Given the description of an element on the screen output the (x, y) to click on. 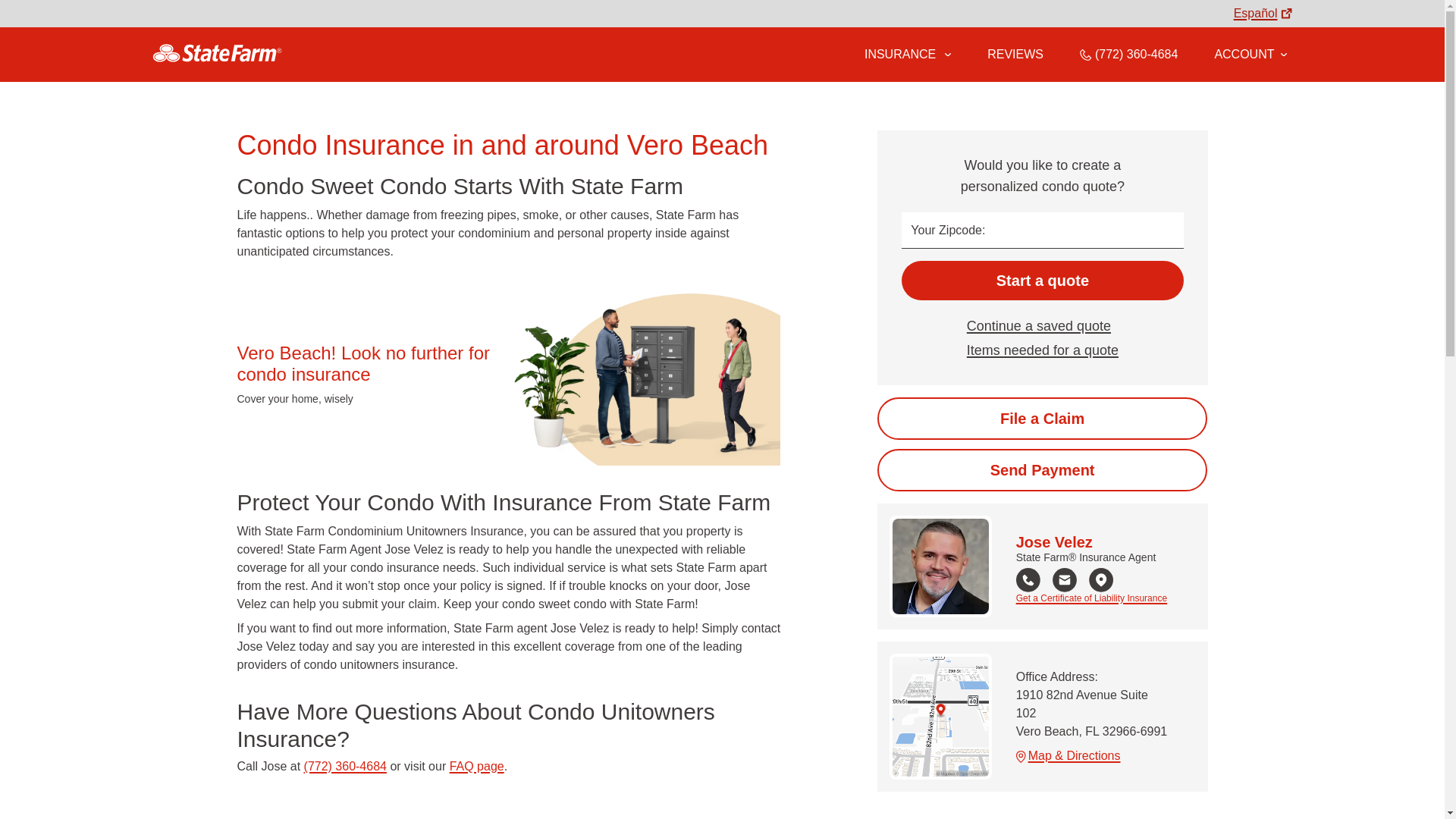
Account Options (1250, 54)
Insurance (907, 54)
REVIEWS (1015, 54)
Start the claim process online (1042, 418)
ACCOUNT (1250, 54)
INSURANCE (899, 54)
